Given the description of an element on the screen output the (x, y) to click on. 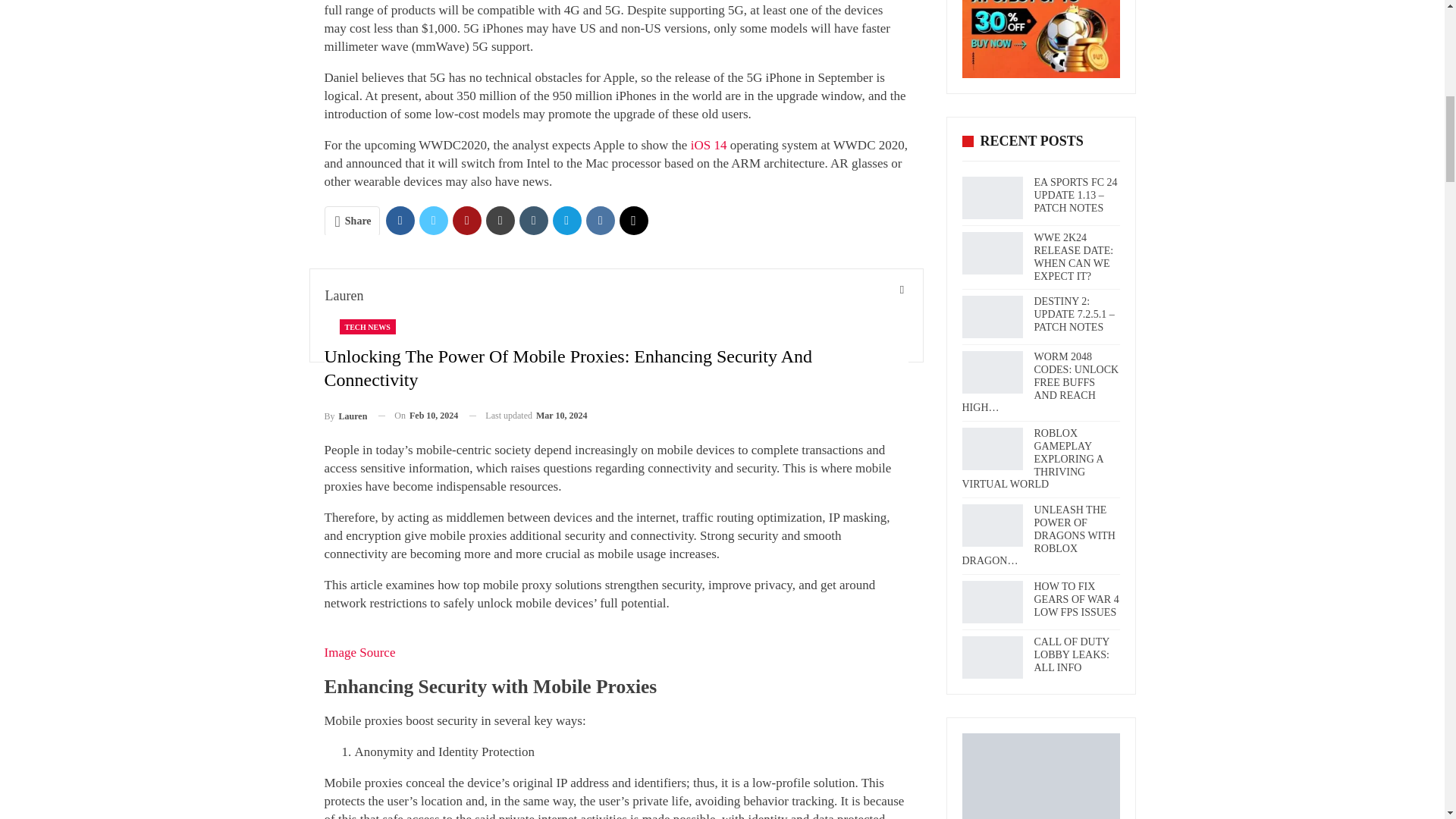
iOS 14 (706, 145)
By Lauren (346, 415)
Browse Author Articles (346, 415)
Lauren (343, 295)
WWE 2K24 Release Date: When Can We Expect It? (991, 252)
Roblox Gameplay Exploring a Thriving Virtual World (991, 448)
TECH NEWS (367, 326)
Worm 2048 Codes: Unlock Free Buffs and Reach High Scores! (991, 372)
Image Source (360, 652)
